Given the description of an element on the screen output the (x, y) to click on. 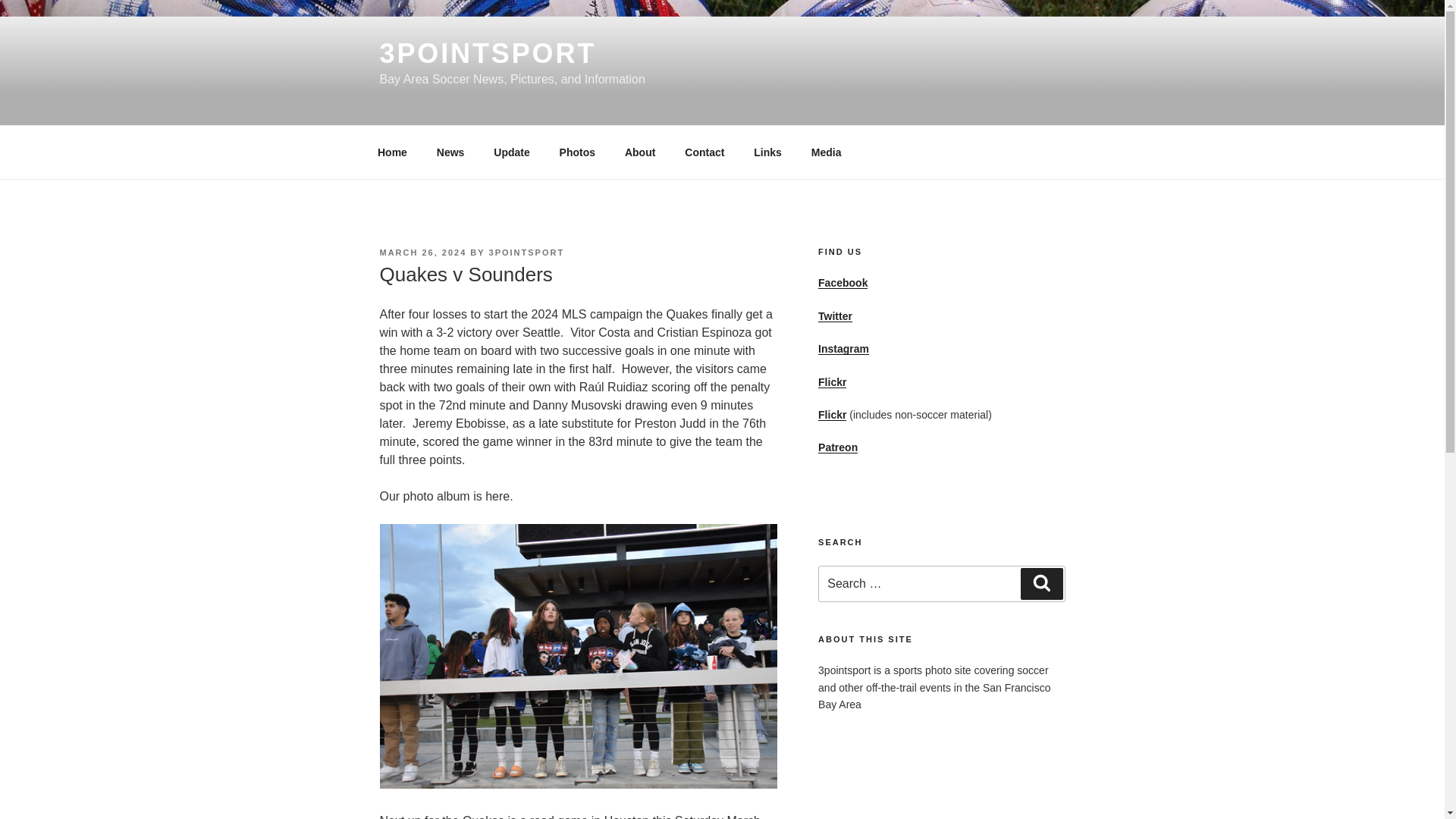
Flickr (831, 414)
Instagram (843, 348)
Home (392, 151)
Contact (704, 151)
Links (767, 151)
Flickr (831, 381)
Photos (577, 151)
About (639, 151)
3POINTSPORT (486, 52)
Facebook (842, 282)
